Given the description of an element on the screen output the (x, y) to click on. 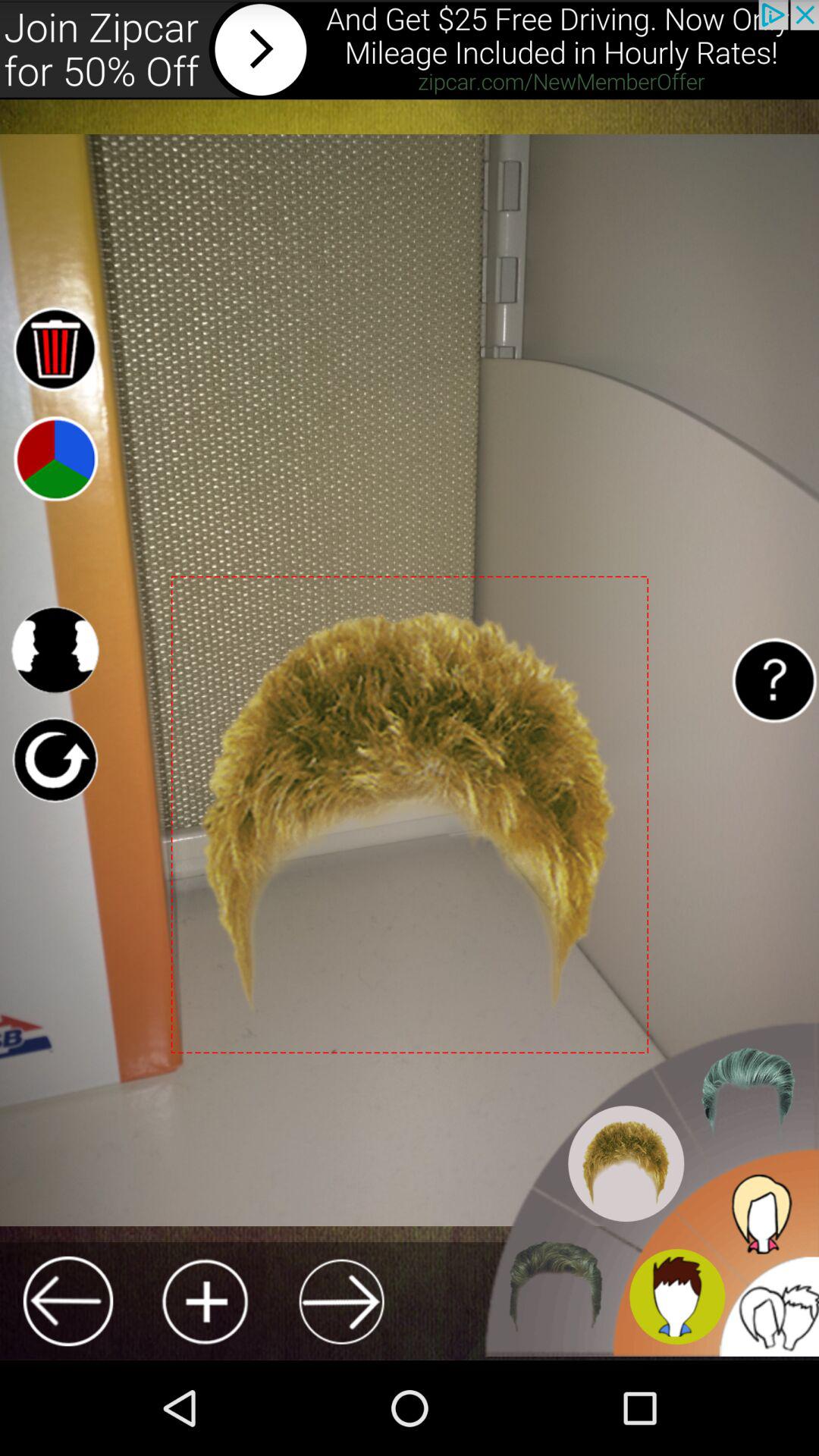
go to previous (68, 1301)
